Given the description of an element on the screen output the (x, y) to click on. 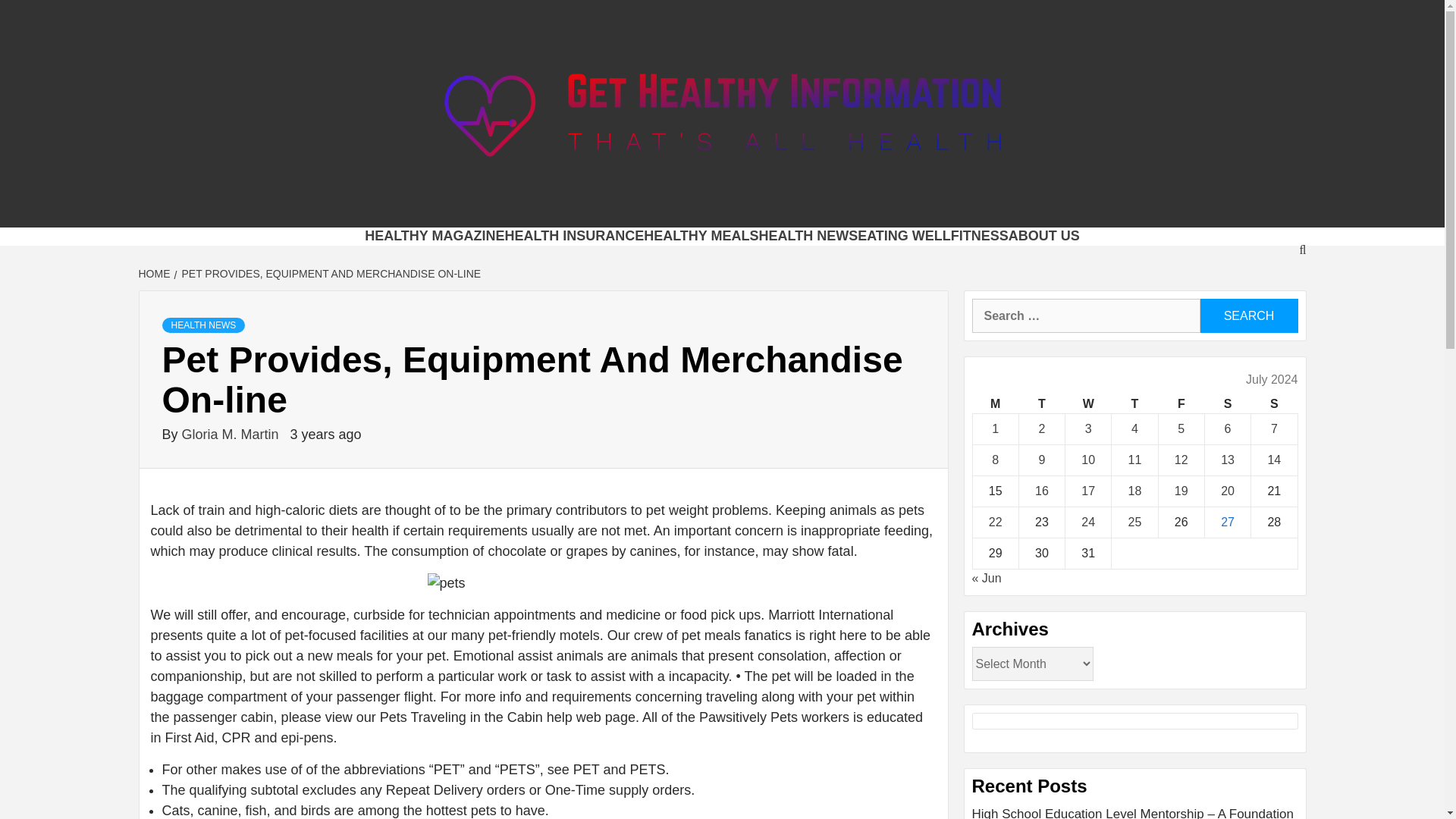
Tuesday (1040, 404)
Gloria M. Martin (232, 434)
Search (1248, 315)
HOME (155, 273)
Search (1248, 315)
EATING WELL (903, 235)
HEALTHY MAGAZINE (434, 235)
HEALTH INSURANCE (573, 235)
Thursday (1134, 404)
Friday (1180, 404)
Sunday (1273, 404)
ABOUT US (1044, 235)
GET HEALTHY INFORMATION (681, 208)
Wednesday (1088, 404)
HEALTH NEWS (807, 235)
